Given the description of an element on the screen output the (x, y) to click on. 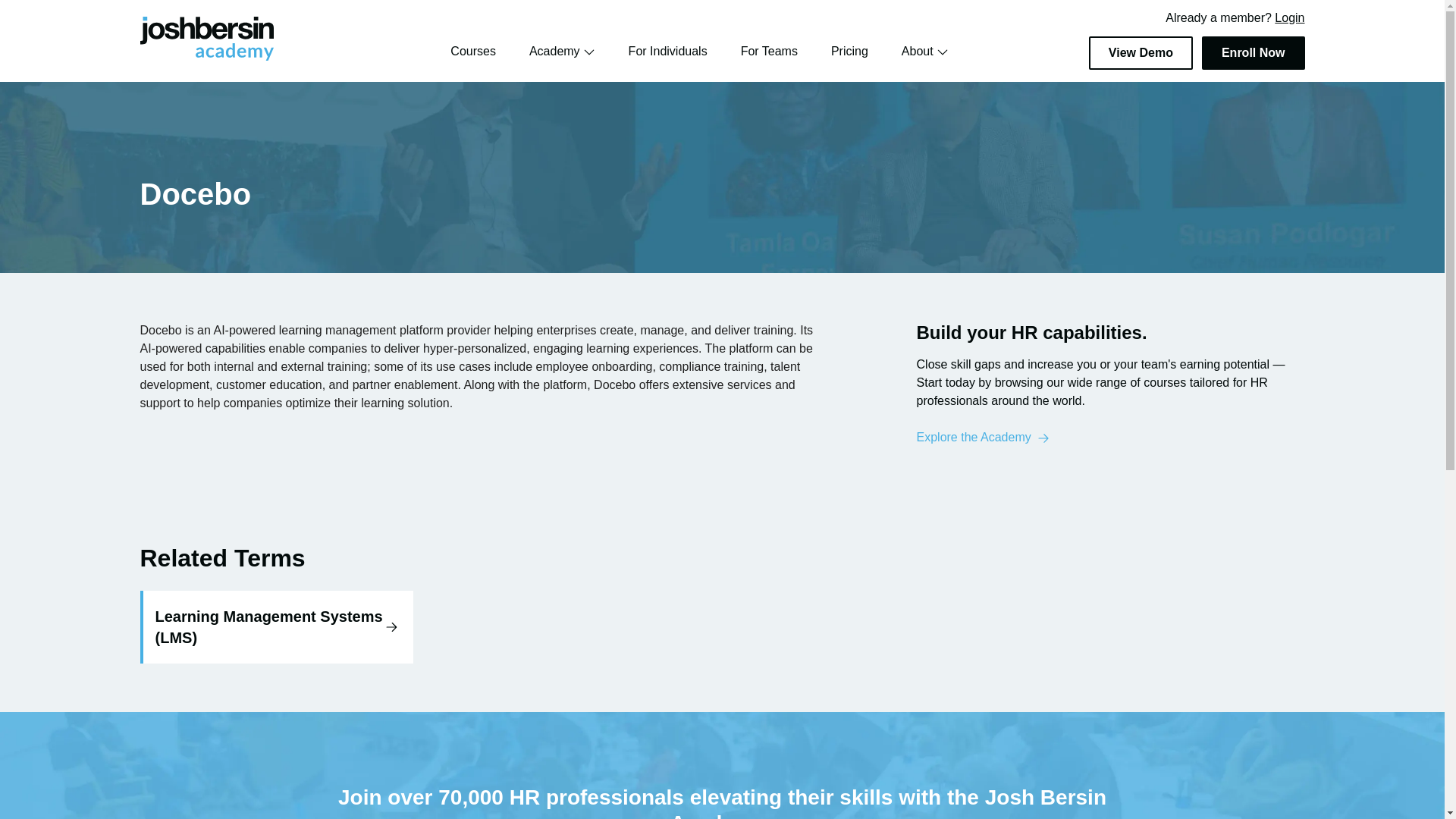
Courses (472, 51)
Login (1289, 17)
Enroll Now (1253, 52)
View Demo (1140, 52)
Academy (562, 51)
For Individuals (667, 51)
About (925, 51)
For Teams (769, 51)
About (917, 51)
Pricing (849, 51)
Lexicon (163, 68)
Explore the Academy (983, 436)
Academy (554, 51)
